Given the description of an element on the screen output the (x, y) to click on. 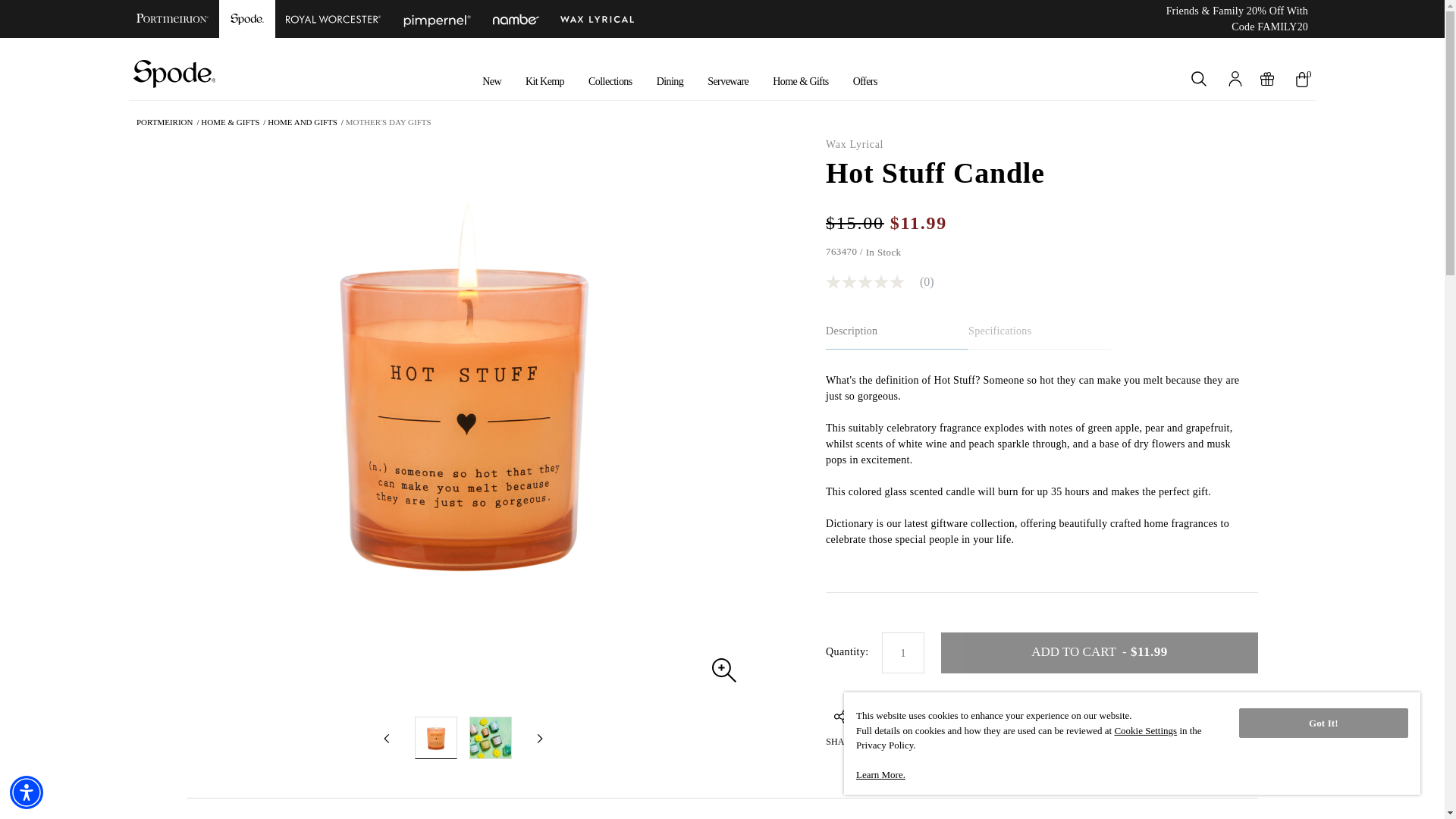
Pimpernel (436, 18)
Wax Lyrical (597, 18)
Spode (247, 18)
Royal Worcester (333, 18)
Kit Kemp (544, 81)
Spode Home (174, 73)
Accessibility Menu (26, 792)
New (491, 81)
Portmeirion (174, 18)
Collections (610, 81)
